Given the description of an element on the screen output the (x, y) to click on. 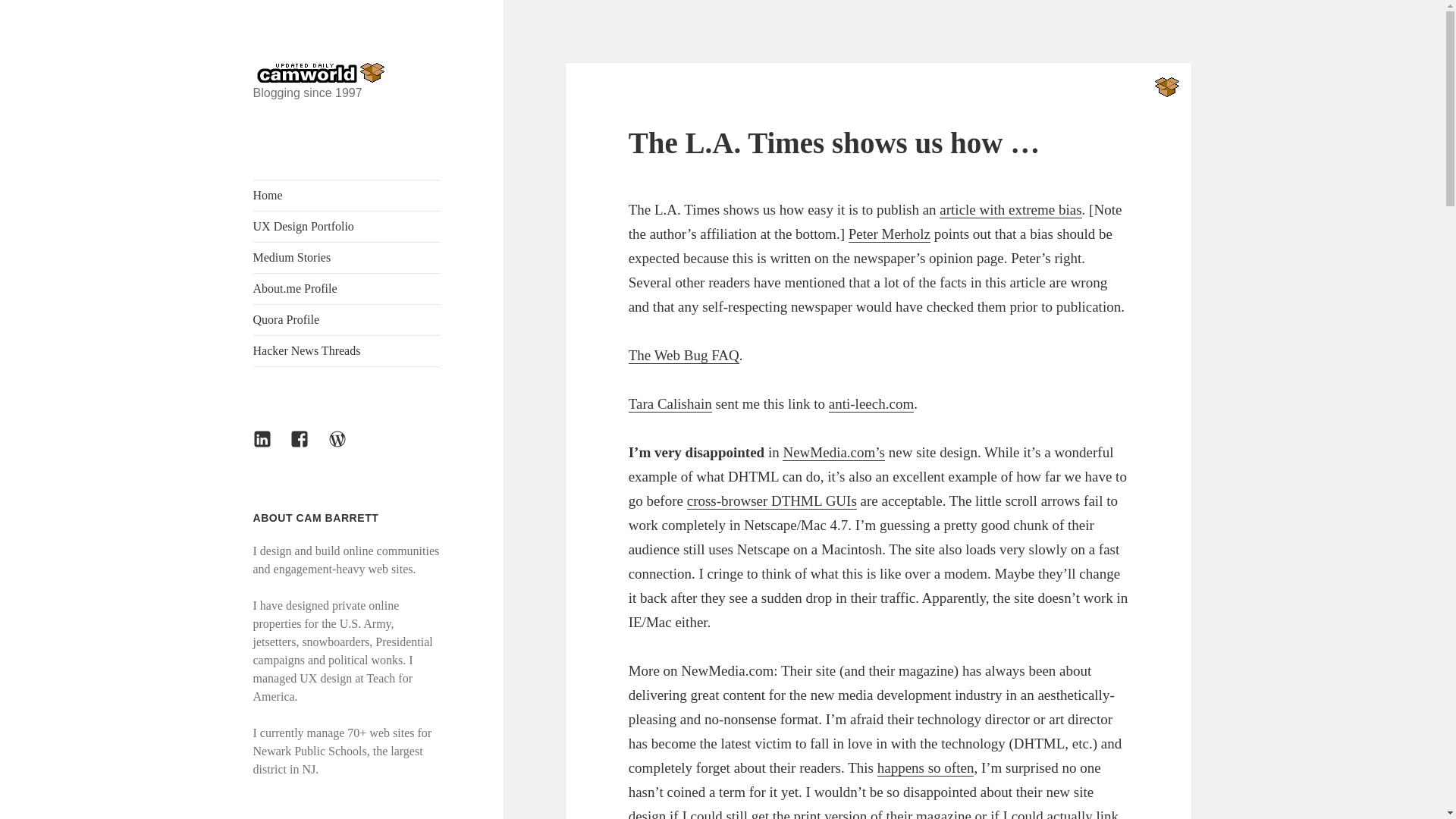
Hacker News Threads (347, 350)
WordPress.org Profile (347, 447)
The Web Bug FAQ (683, 355)
article with extreme bias (1010, 209)
UX Design Portfolio (347, 226)
About.me Profile (347, 288)
cross-browser DTHML GUIs (772, 501)
anti-leech.com (871, 403)
Facebook Feed (307, 447)
Tara Calishain (669, 403)
happens so often (925, 768)
Medium Stories (347, 257)
LinkedIn Profile (271, 447)
Peter Merholz (889, 234)
Quora Profile (347, 319)
